Given the description of an element on the screen output the (x, y) to click on. 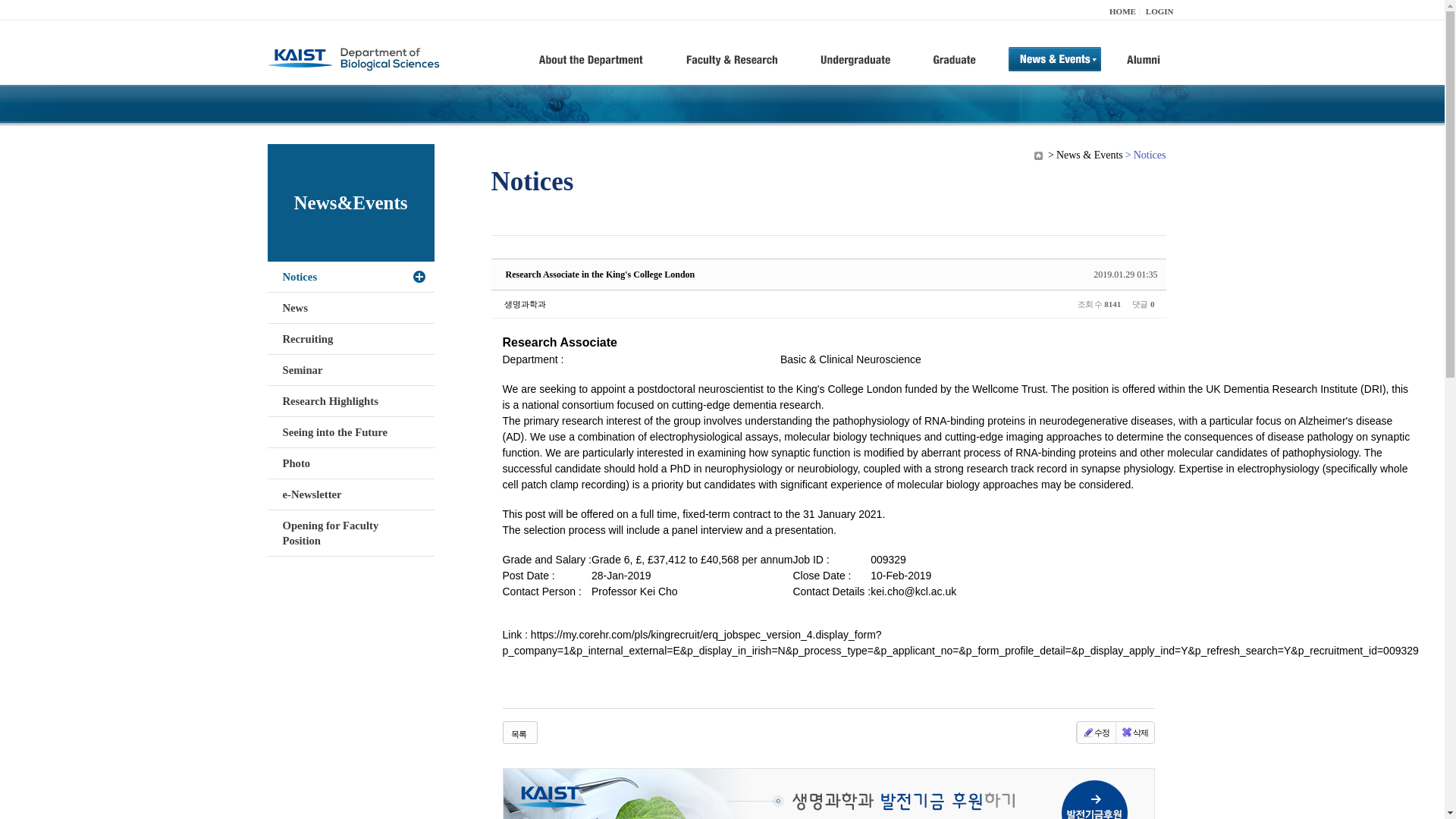
LOGIN (1159, 10)
HOME (1122, 10)
